Given the description of an element on the screen output the (x, y) to click on. 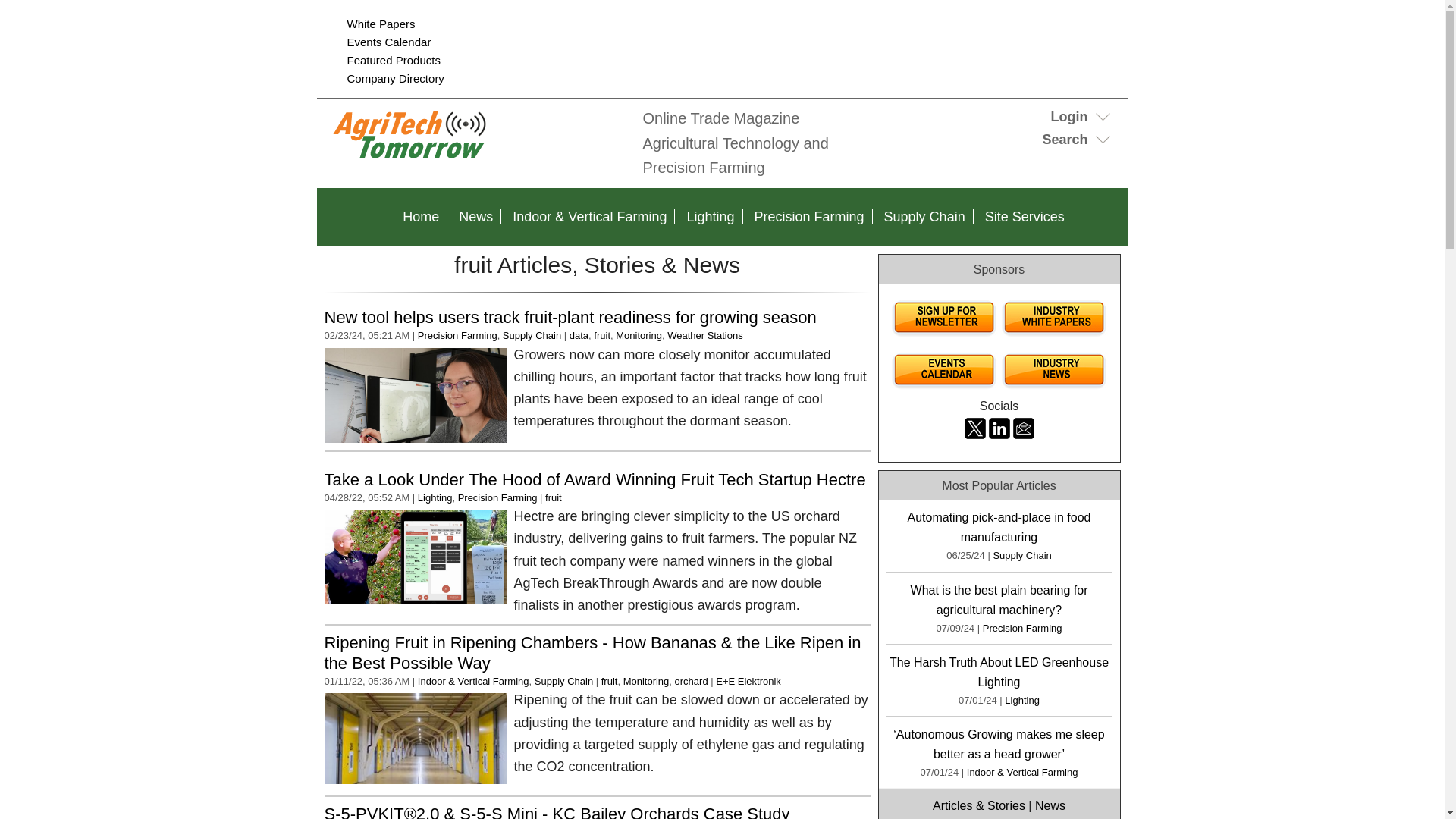
Featured Products (394, 60)
Precision Farming (457, 335)
Events Calendar (388, 42)
News (475, 217)
Precision Farming (809, 217)
fruit (602, 335)
Weather Stations (704, 335)
White Papers (380, 23)
Lighting (709, 217)
Company Directory (395, 78)
Monitoring (638, 335)
Supply Chain (924, 217)
AgriTechTomorrow (475, 159)
